Given the description of an element on the screen output the (x, y) to click on. 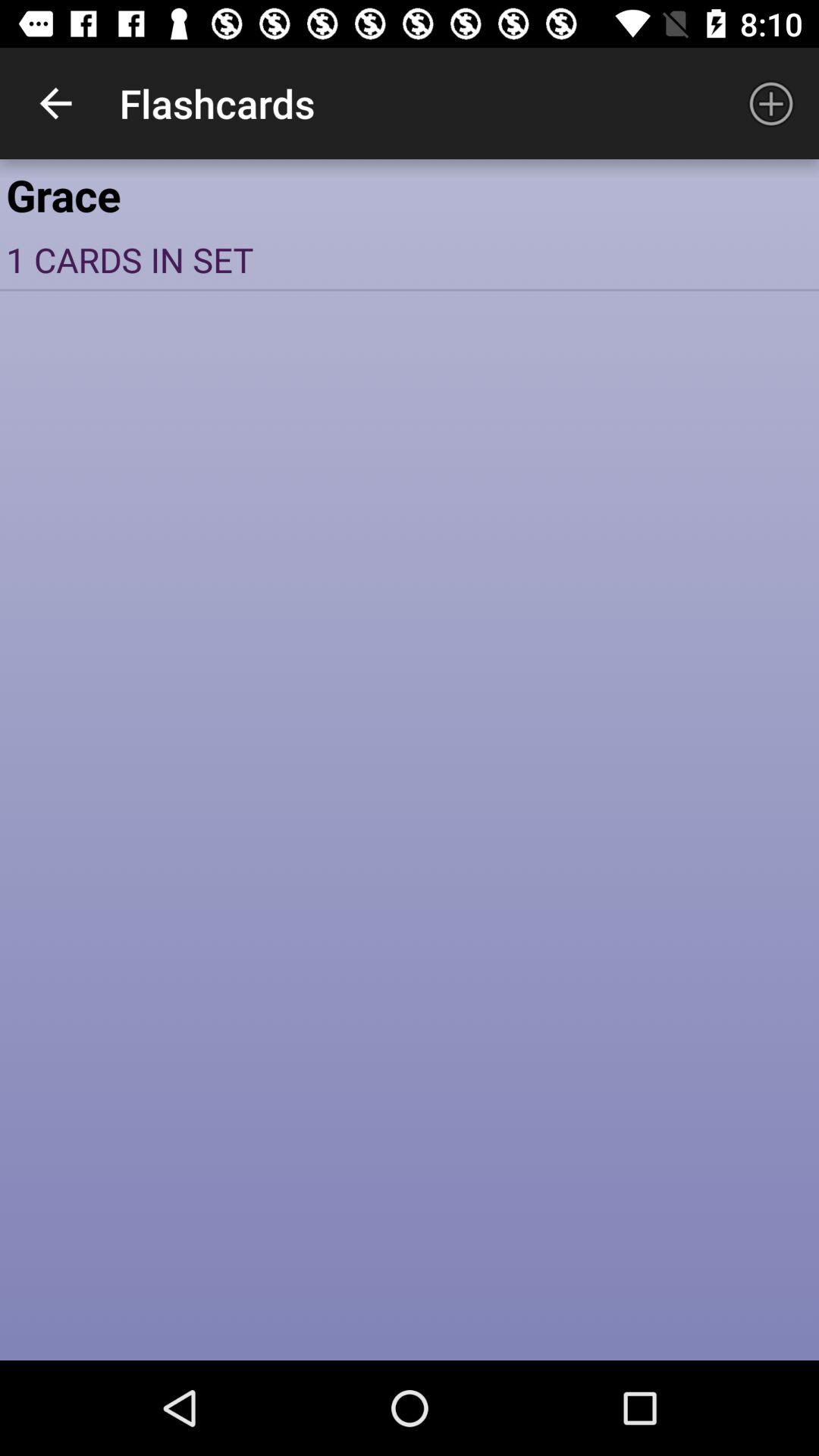
click icon to the right of flashcards icon (771, 103)
